Given the description of an element on the screen output the (x, y) to click on. 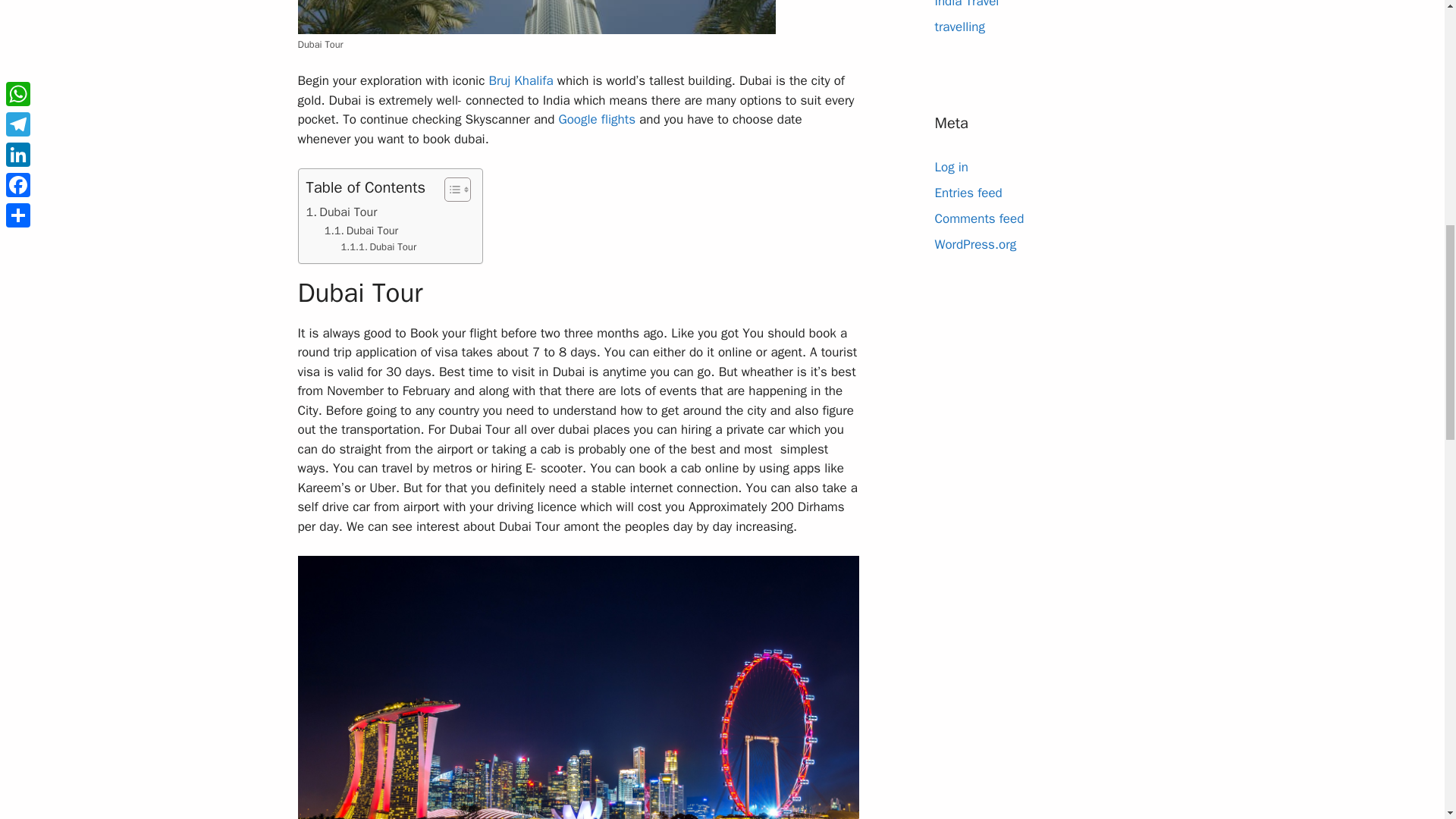
Dubai Tour 2 (535, 16)
India Travel (966, 4)
Dubai Tour (360, 230)
Dubai Tour (378, 247)
Google flights (595, 119)
Dubai Tour (341, 211)
travelling (959, 26)
Dubai Tour (360, 230)
Dubai Tour (378, 247)
